Given the description of an element on the screen output the (x, y) to click on. 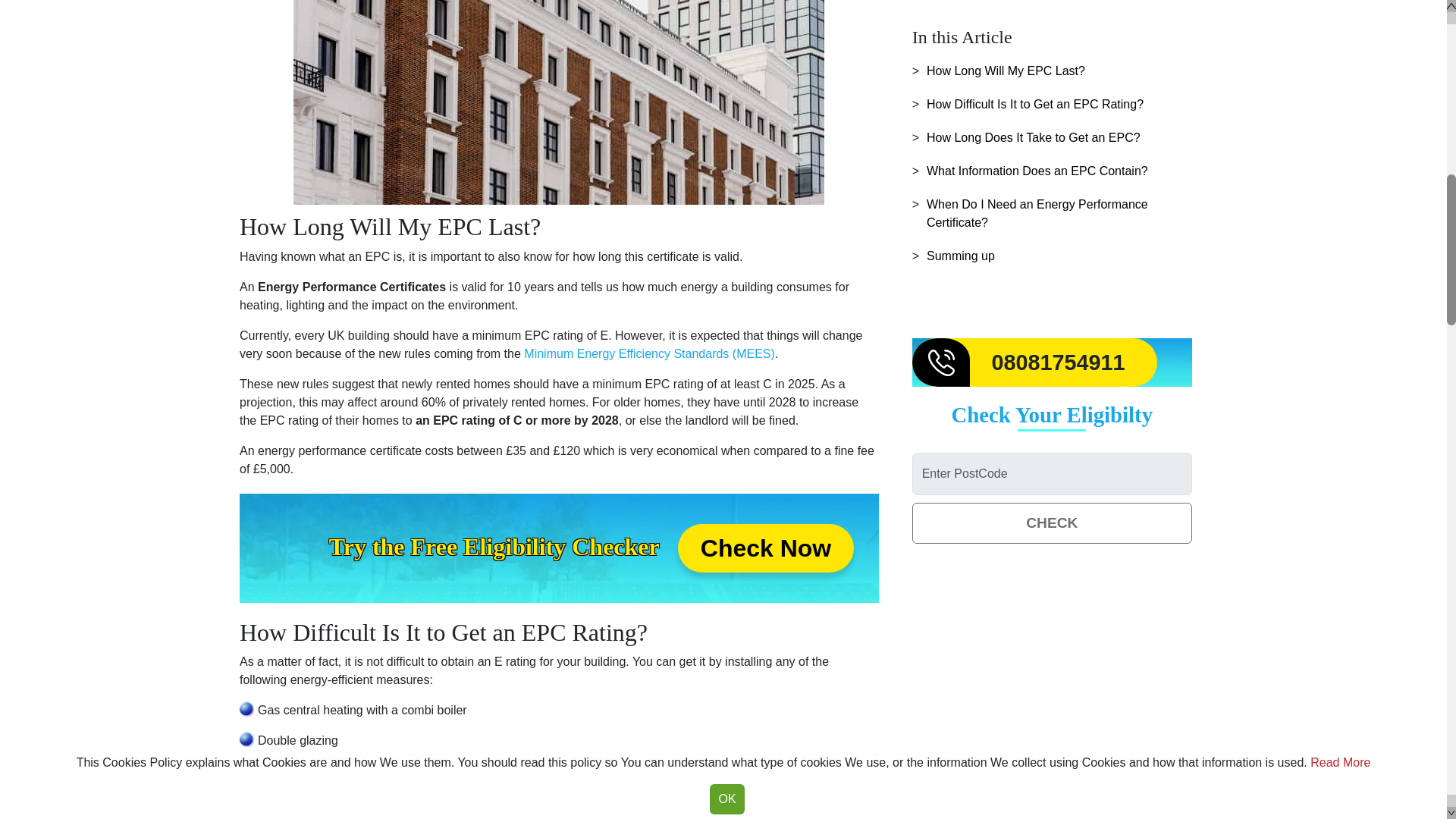
Check Now (765, 548)
